Given the description of an element on the screen output the (x, y) to click on. 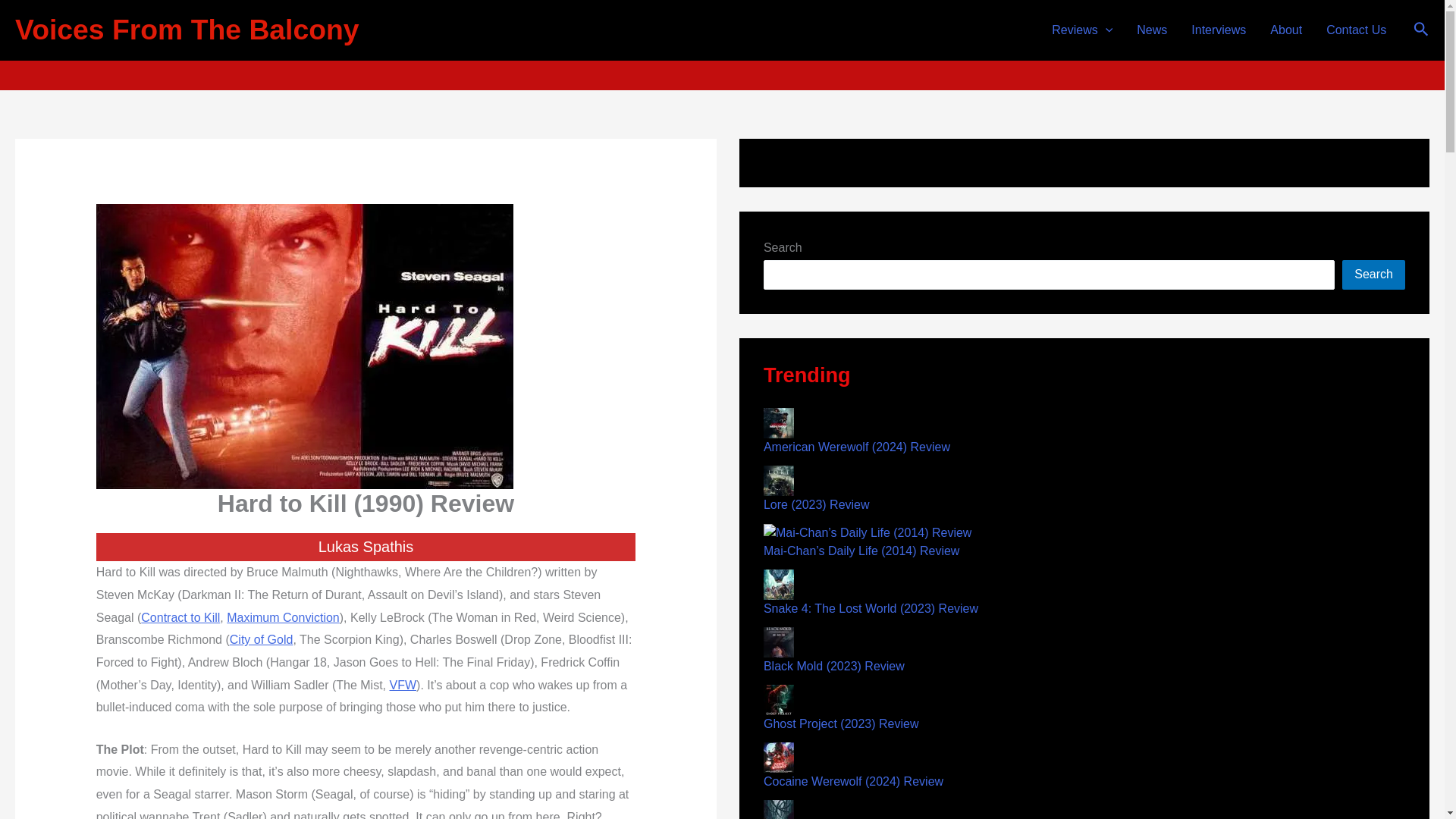
Maximum Conviction (283, 617)
Contact Us (1355, 30)
Interviews (1218, 30)
Lukas Spathis (696, 44)
Reviews (1081, 30)
1 Comment (774, 44)
News (1151, 30)
View all posts by Lukas Spathis (696, 44)
Voices From The Balcony (186, 29)
VFW (403, 684)
